Given the description of an element on the screen output the (x, y) to click on. 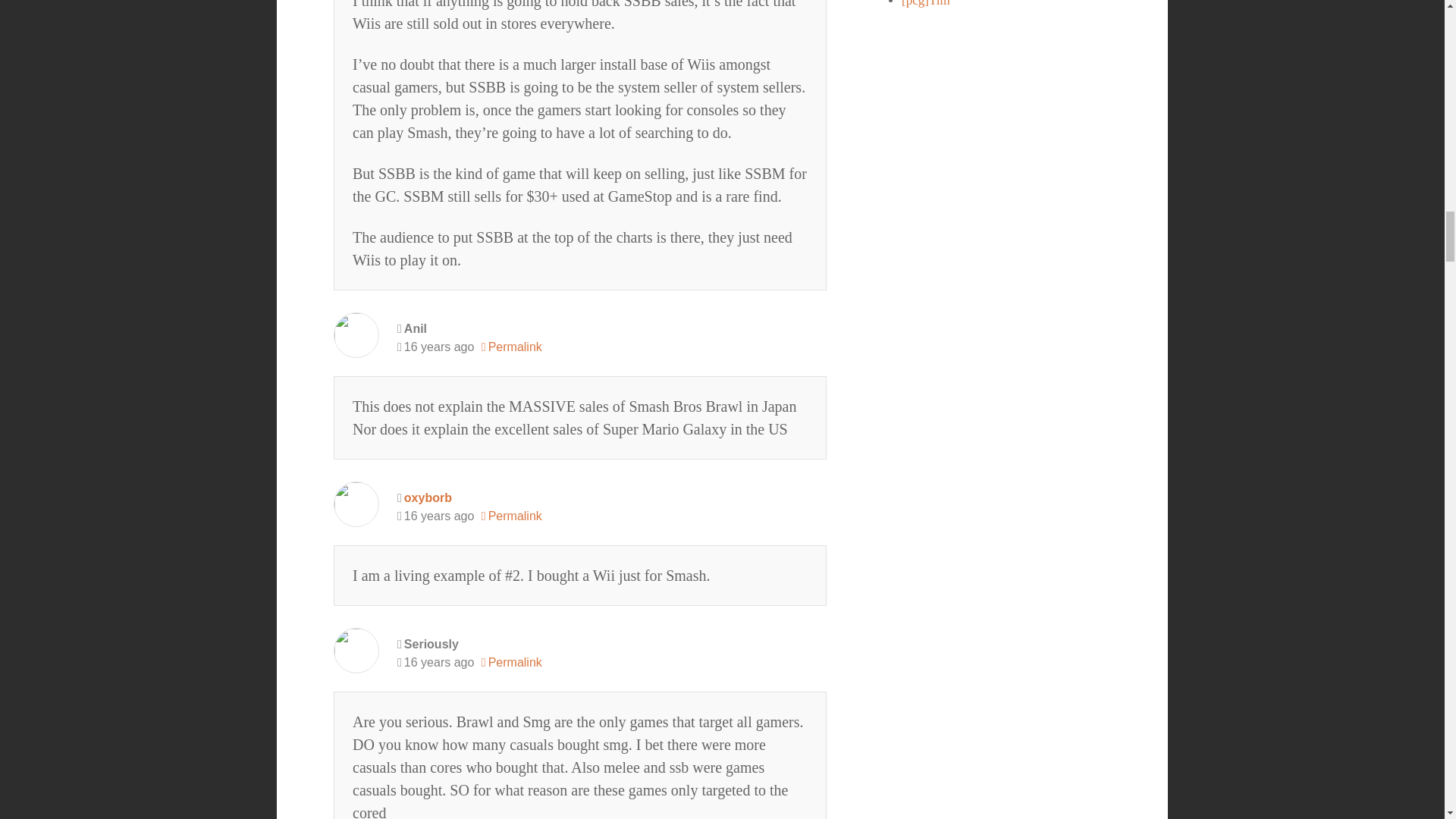
oxyborb (427, 497)
Permalink (511, 347)
Permalink (511, 515)
Permalink (511, 662)
Saturday, February 16, 2008, 8:15 pm (435, 347)
